Given the description of an element on the screen output the (x, y) to click on. 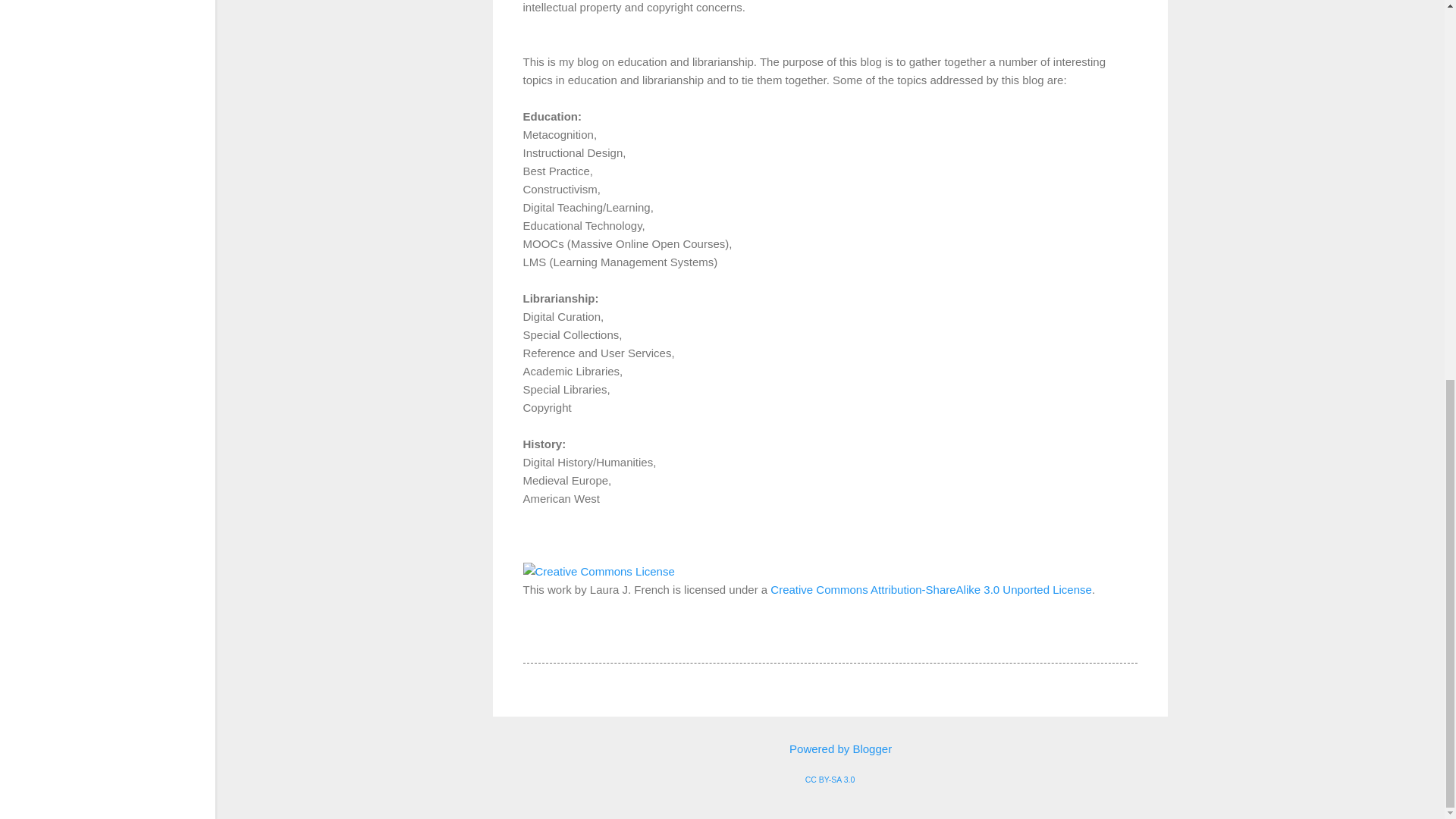
CC BY-SA 3.0 (830, 778)
Creative Commons Attribution-ShareAlike 3.0 Unported License (931, 589)
Powered by Blogger (829, 748)
